Given the description of an element on the screen output the (x, y) to click on. 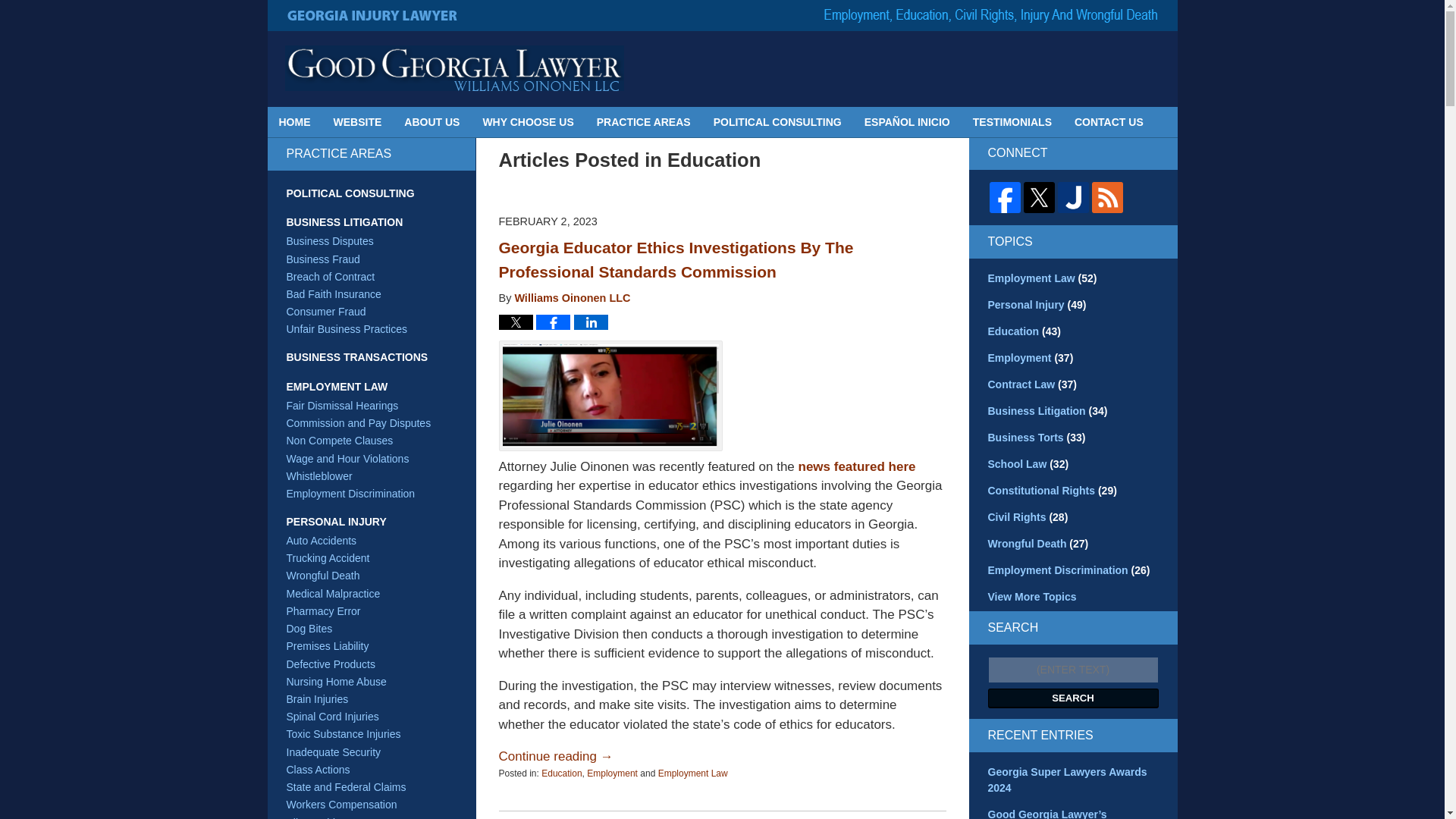
PRACTICE AREAS (643, 122)
View all posts in Employment Law (693, 772)
WHY CHOOSE US (527, 122)
Williams Oinonen LLC (571, 297)
Georgia Injury Lawyer Blog (454, 67)
news featured here (856, 466)
Employment Law (693, 772)
CONTACT US (1108, 122)
WEBSITE (357, 122)
ABOUT US (431, 122)
HOME (293, 122)
View all posts in Employment (611, 772)
TESTIMONIALS (1011, 122)
